Given the description of an element on the screen output the (x, y) to click on. 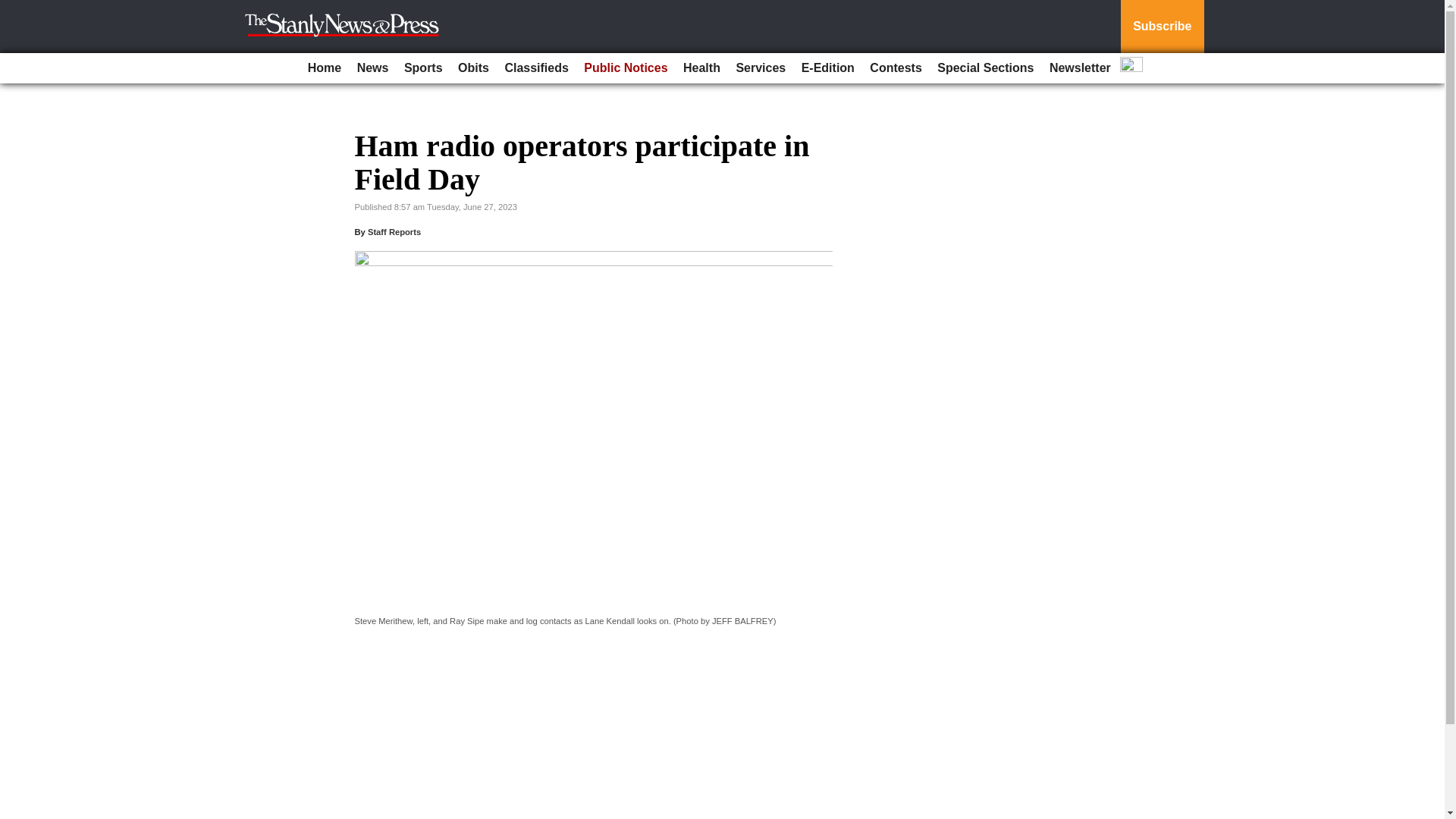
Public Notices (625, 68)
Special Sections (985, 68)
Newsletter (1079, 68)
Go (13, 9)
Health (701, 68)
Staff Reports (394, 231)
Home (324, 68)
Sports (422, 68)
Classifieds (535, 68)
Services (760, 68)
News (372, 68)
Contests (895, 68)
E-Edition (827, 68)
Subscribe (1162, 26)
Obits (473, 68)
